Given the description of an element on the screen output the (x, y) to click on. 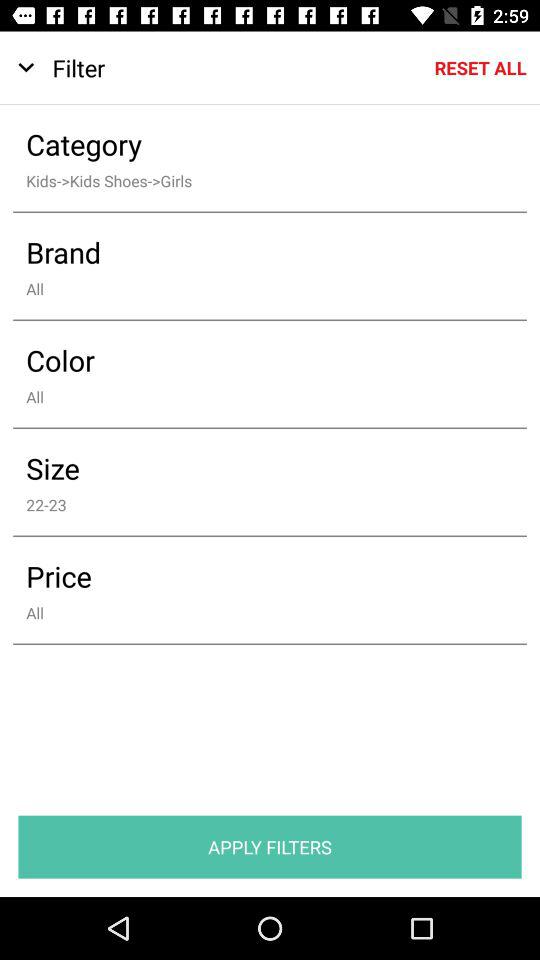
scroll until the kids kids shoes (256, 180)
